Given the description of an element on the screen output the (x, y) to click on. 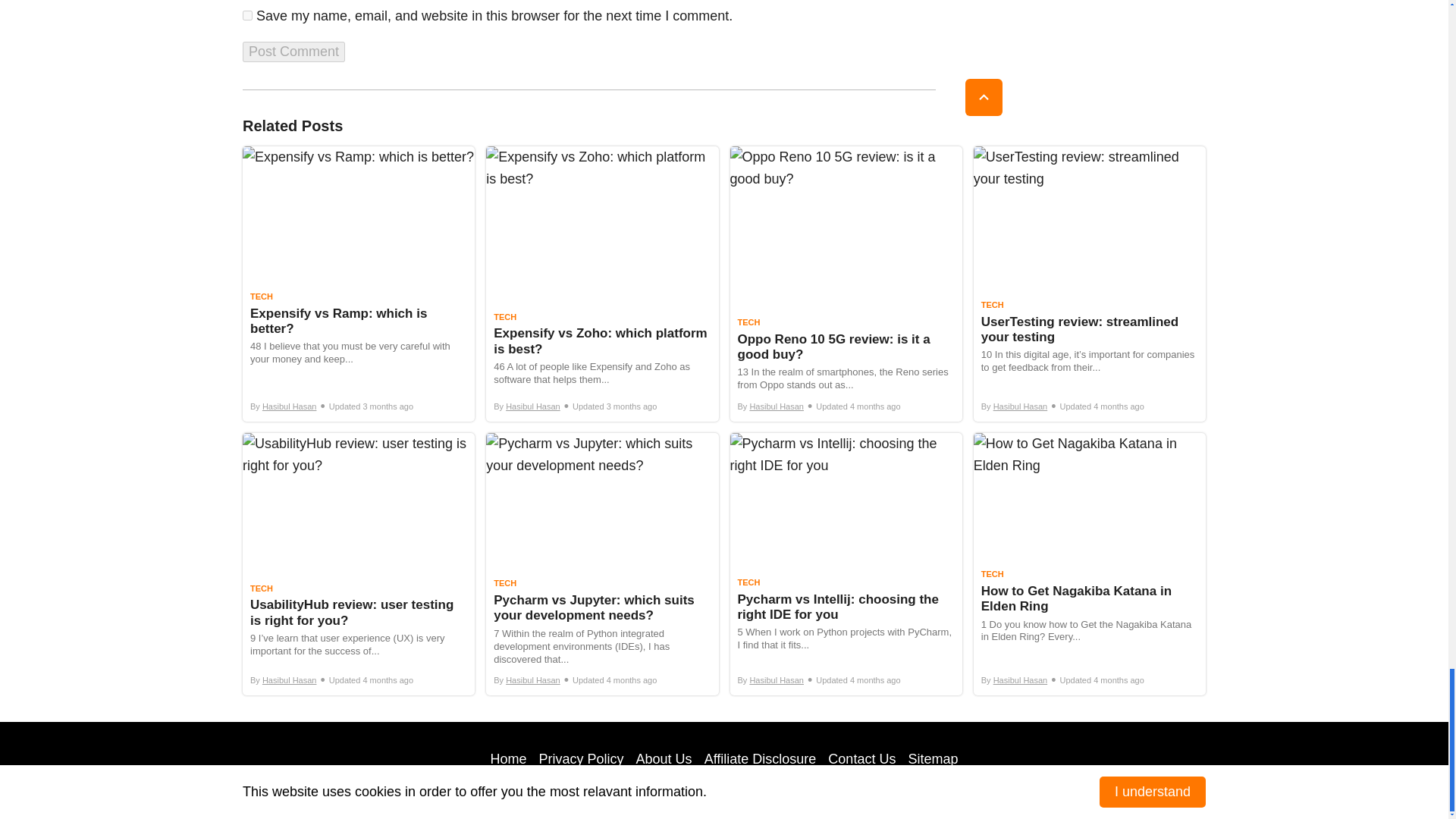
yes (247, 15)
Post Comment (294, 51)
Post Comment (294, 51)
